Given the description of an element on the screen output the (x, y) to click on. 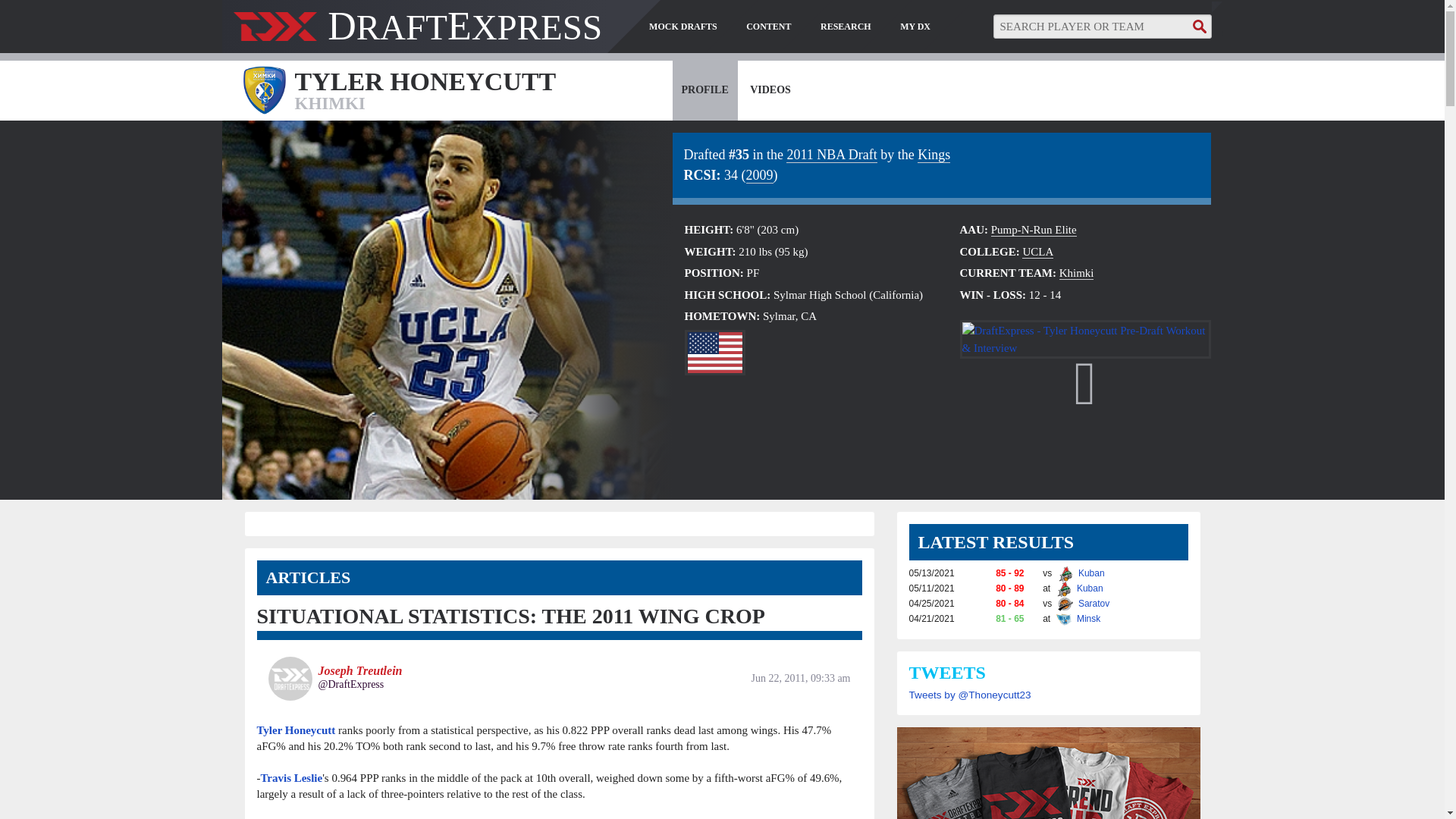
DRAFTEXPRESS (417, 32)
MOCK DRAFTS (683, 26)
RESEARCH (845, 26)
Mock Drafts (683, 26)
